Given the description of an element on the screen output the (x, y) to click on. 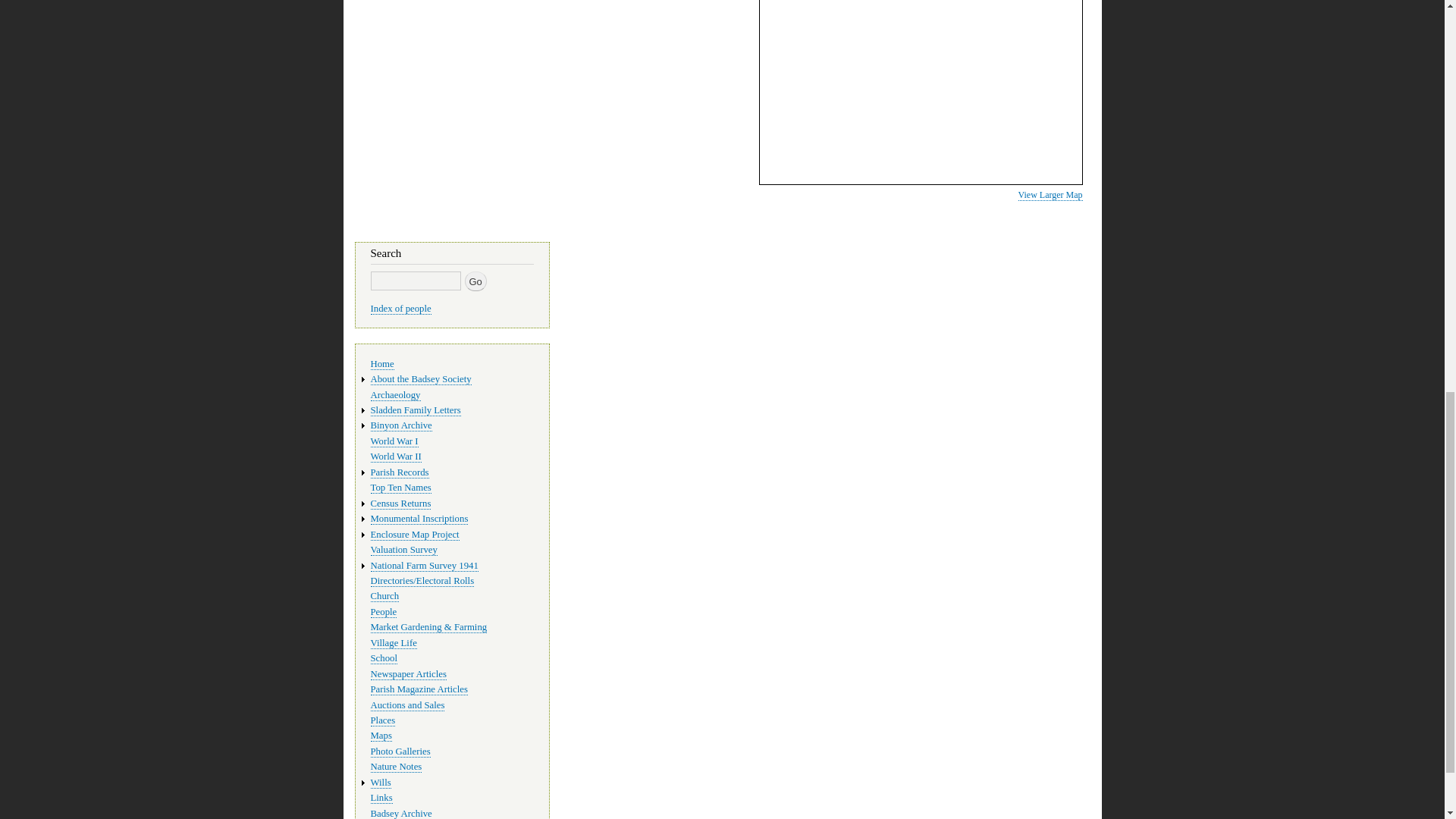
Census Returns (399, 503)
Sladden Family Letters (414, 410)
Church (383, 595)
Monumental Inscriptions (418, 518)
Valuation Survey (402, 550)
Enter the terms you wish to search for. (414, 280)
Enclosure Map Project (413, 534)
School (383, 658)
Go (475, 281)
Index of people (399, 308)
Archaeology (394, 395)
Parish Records (398, 472)
World War I (393, 441)
Home (381, 364)
National Farm Survey 1941 (423, 564)
